Given the description of an element on the screen output the (x, y) to click on. 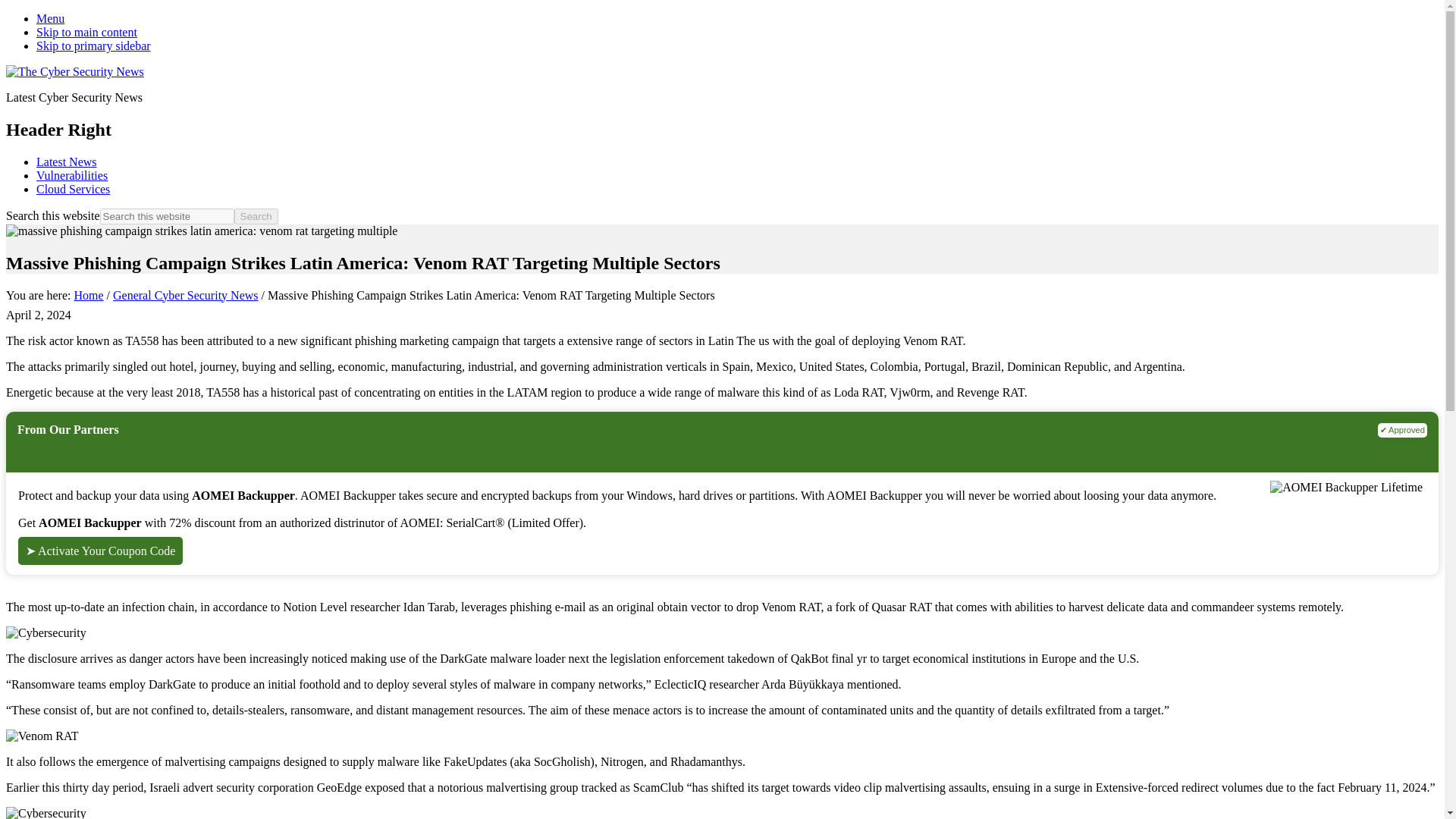
Latest News (66, 161)
Skip to primary sidebar (93, 45)
Cloud Services (73, 188)
Venom RAT (41, 735)
Skip to main content (86, 31)
General Cyber Security News (186, 295)
Home (88, 295)
Menu (50, 18)
Search (256, 216)
Search (256, 216)
